Given the description of an element on the screen output the (x, y) to click on. 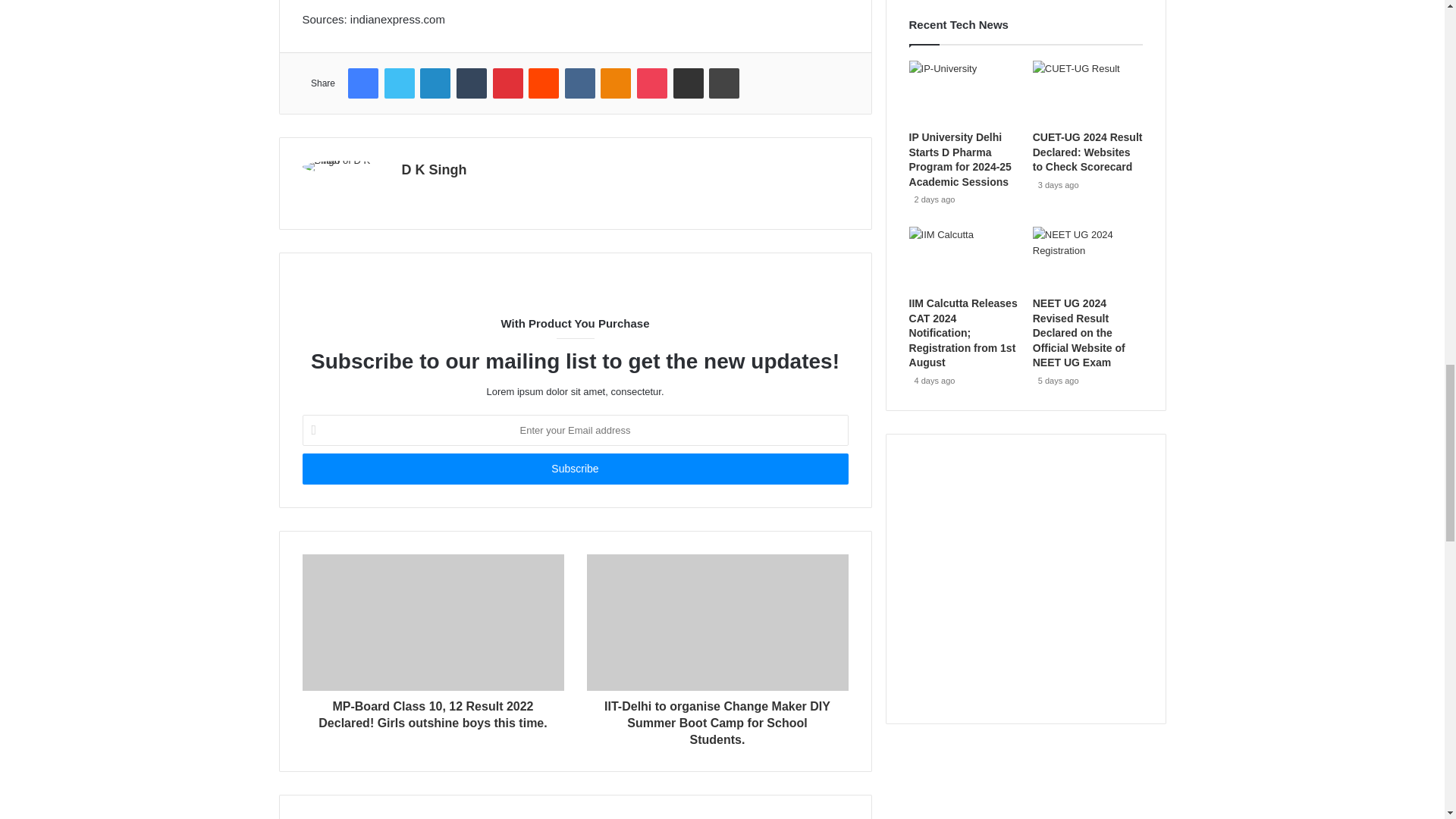
Subscribe (574, 468)
